Given the description of an element on the screen output the (x, y) to click on. 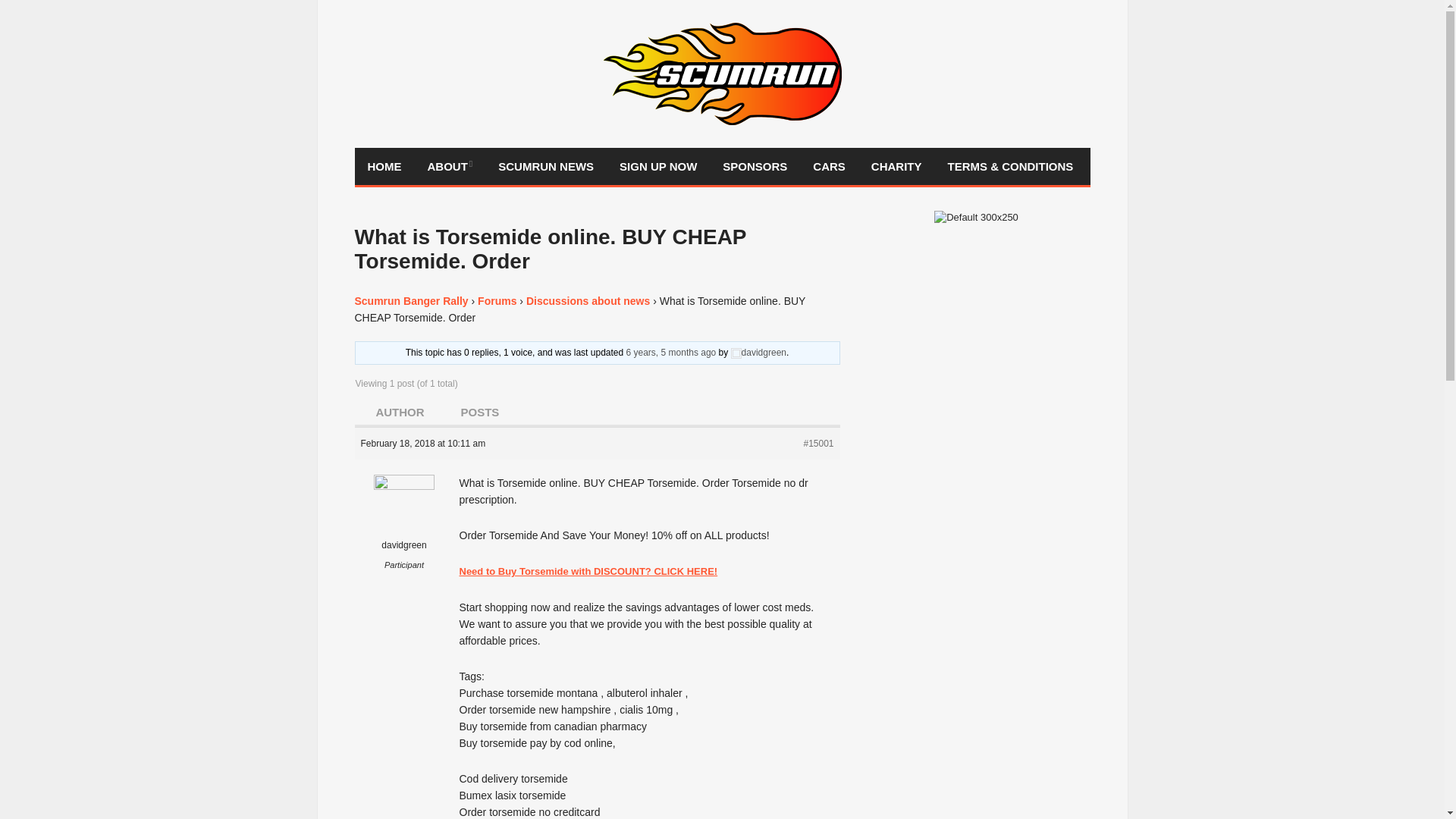
About (448, 166)
Charity (896, 166)
Discussions about news (587, 300)
6 years, 5 months ago (671, 352)
davidgreen (404, 524)
davidgreen (758, 352)
Home (384, 166)
Sponsors (754, 166)
What is Torsemide online. BUY CHEAP Torsemide. Order (671, 352)
Forums (496, 300)
